Given the description of an element on the screen output the (x, y) to click on. 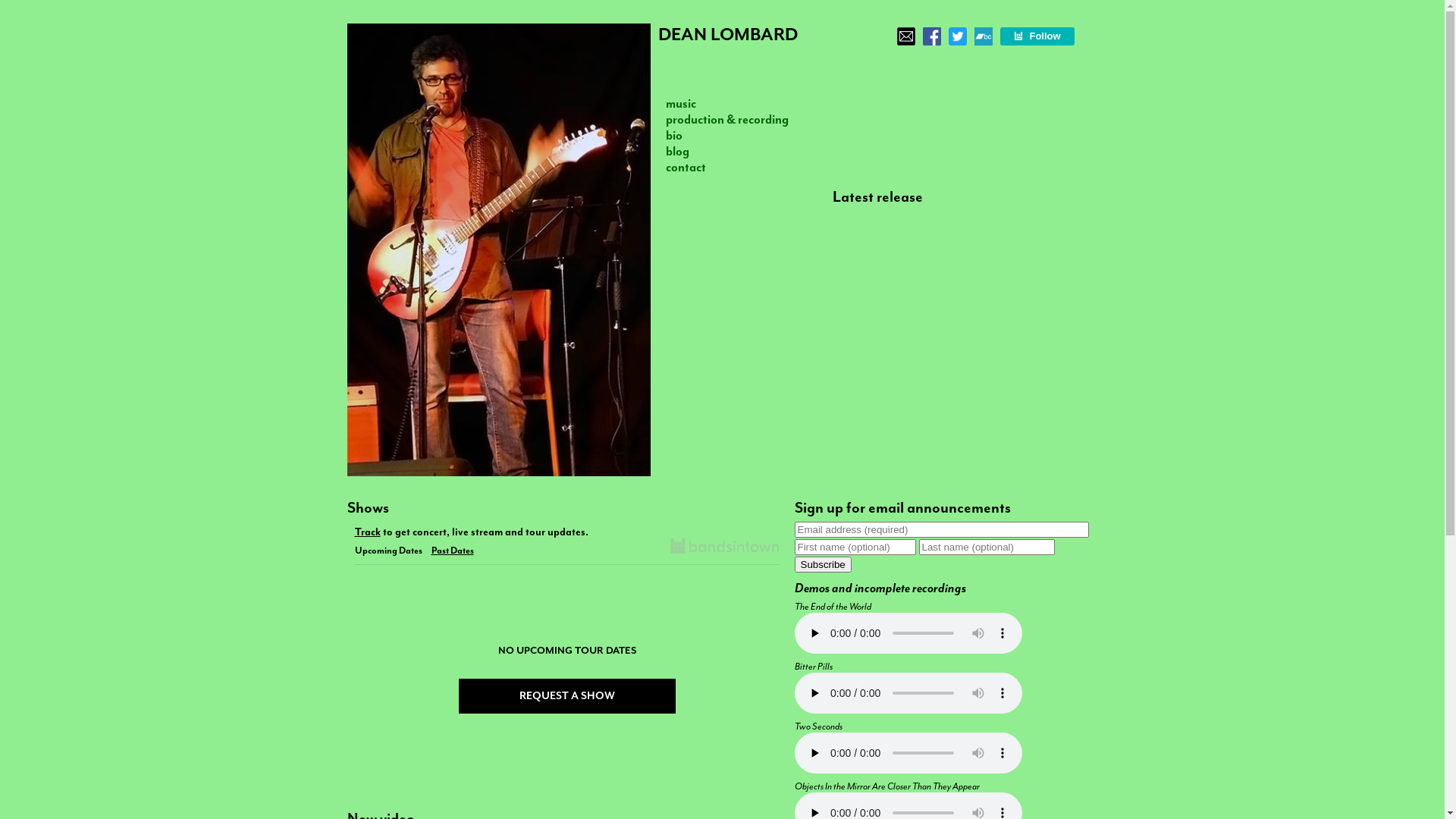
production & recording Element type: text (726, 119)
blog Element type: text (677, 151)
music Element type: text (680, 103)
Track to get concert, live stream and tour updates. Element type: text (567, 529)
bio Element type: text (673, 135)
REQUEST A SHOW Element type: text (566, 695)
BandsintownBandsintown Fist Logo Element type: text (724, 547)
contact Element type: text (685, 167)
Subscribe Element type: text (822, 564)
